Given the description of an element on the screen output the (x, y) to click on. 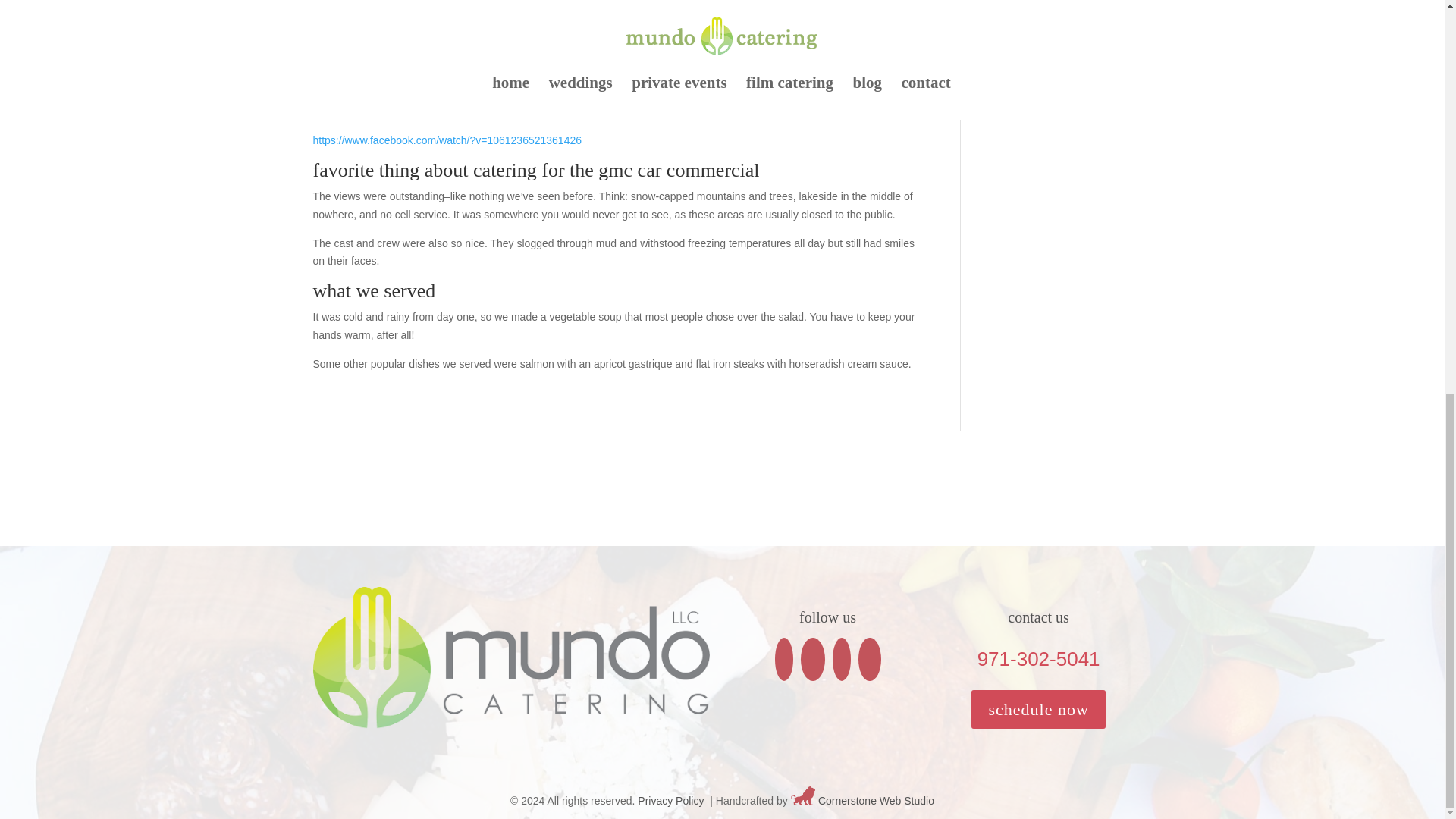
schedule now (1038, 709)
971-302-5041 (1038, 658)
Cornerstone Web Studio (876, 801)
Privacy Policy (670, 801)
